Given the description of an element on the screen output the (x, y) to click on. 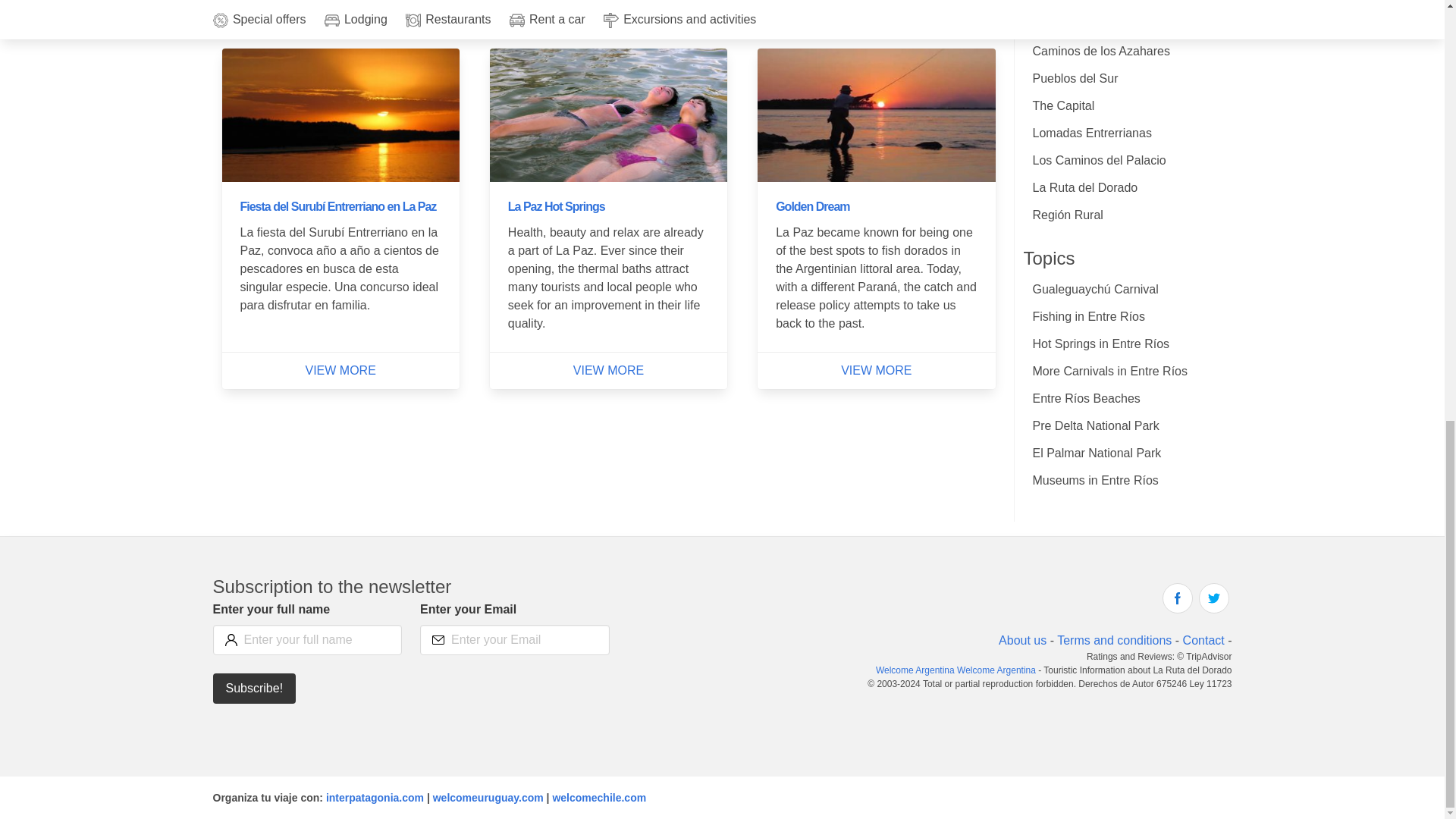
La Paz Hot Springs (556, 205)
Golden Dream (812, 205)
